Given the description of an element on the screen output the (x, y) to click on. 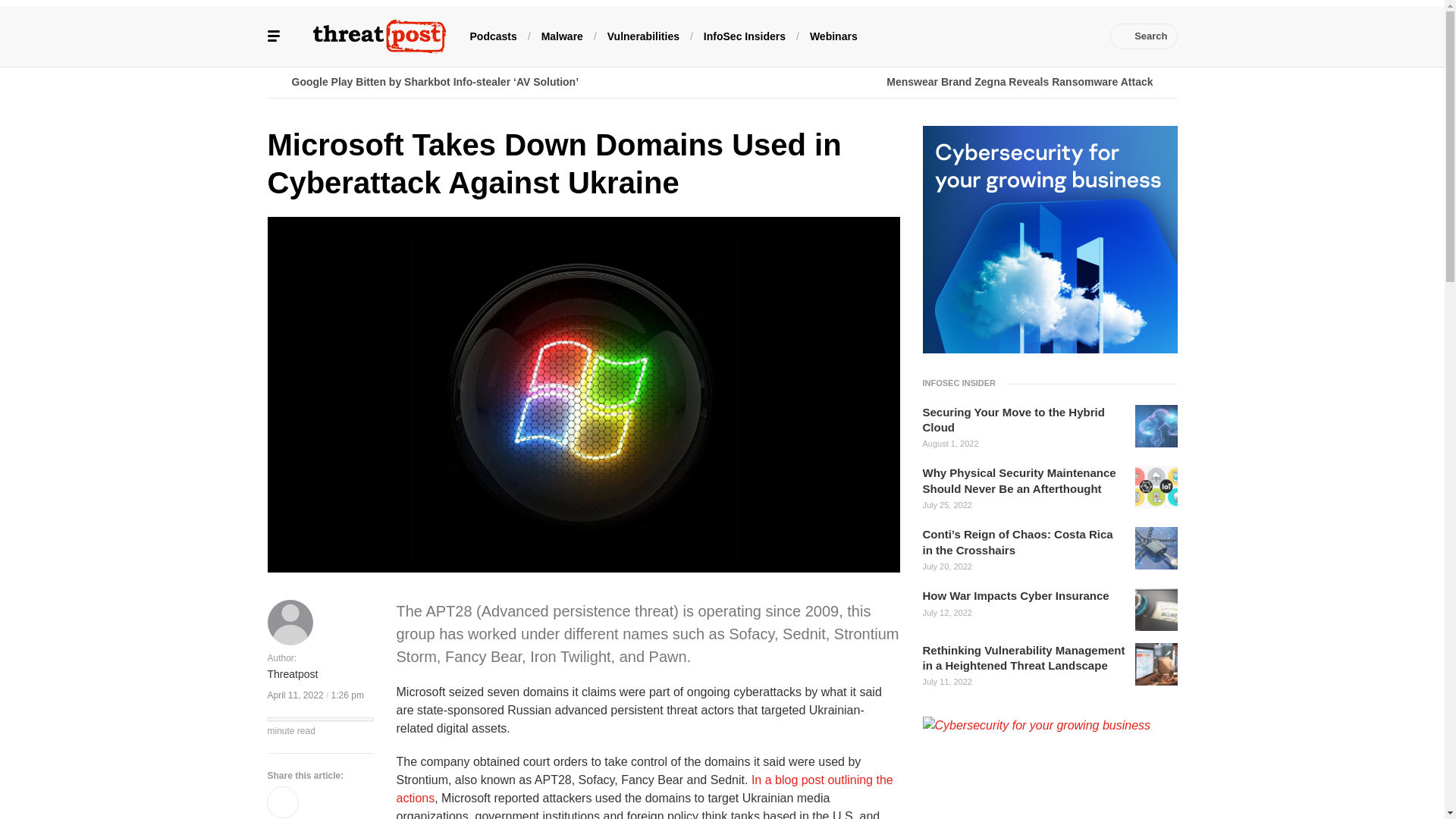
YouTube (1012, 36)
Menswear Brand Zegna Reveals Ransomware Attack (949, 82)
Twitter (966, 36)
RSS (1080, 36)
Feedly (1034, 36)
Instagram (1057, 36)
LinkedIn (989, 36)
Threatpost (291, 674)
In a blog post outlining the actions (644, 788)
